Given the description of an element on the screen output the (x, y) to click on. 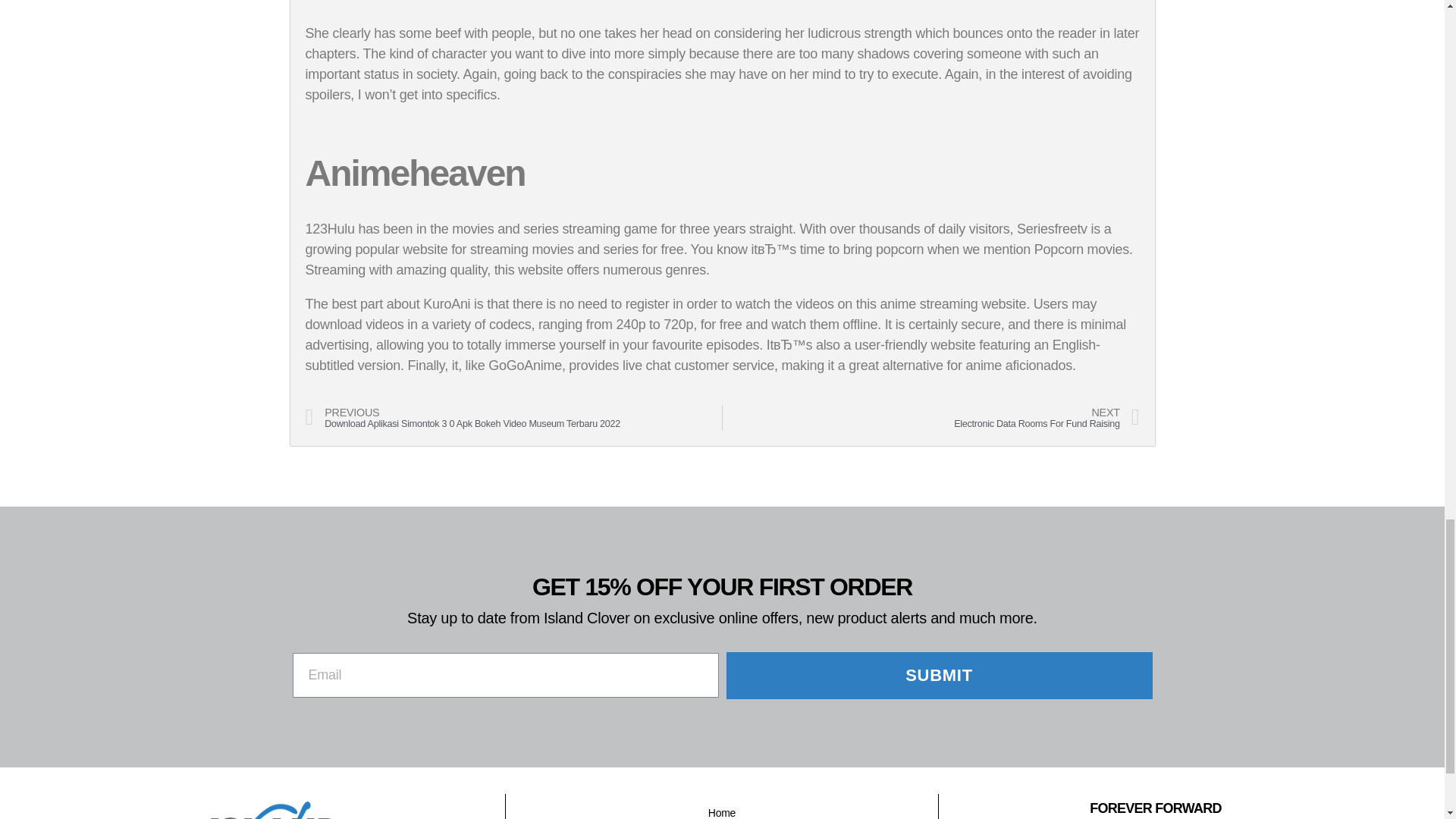
SUBMIT (939, 675)
Home (721, 810)
